Given the description of an element on the screen output the (x, y) to click on. 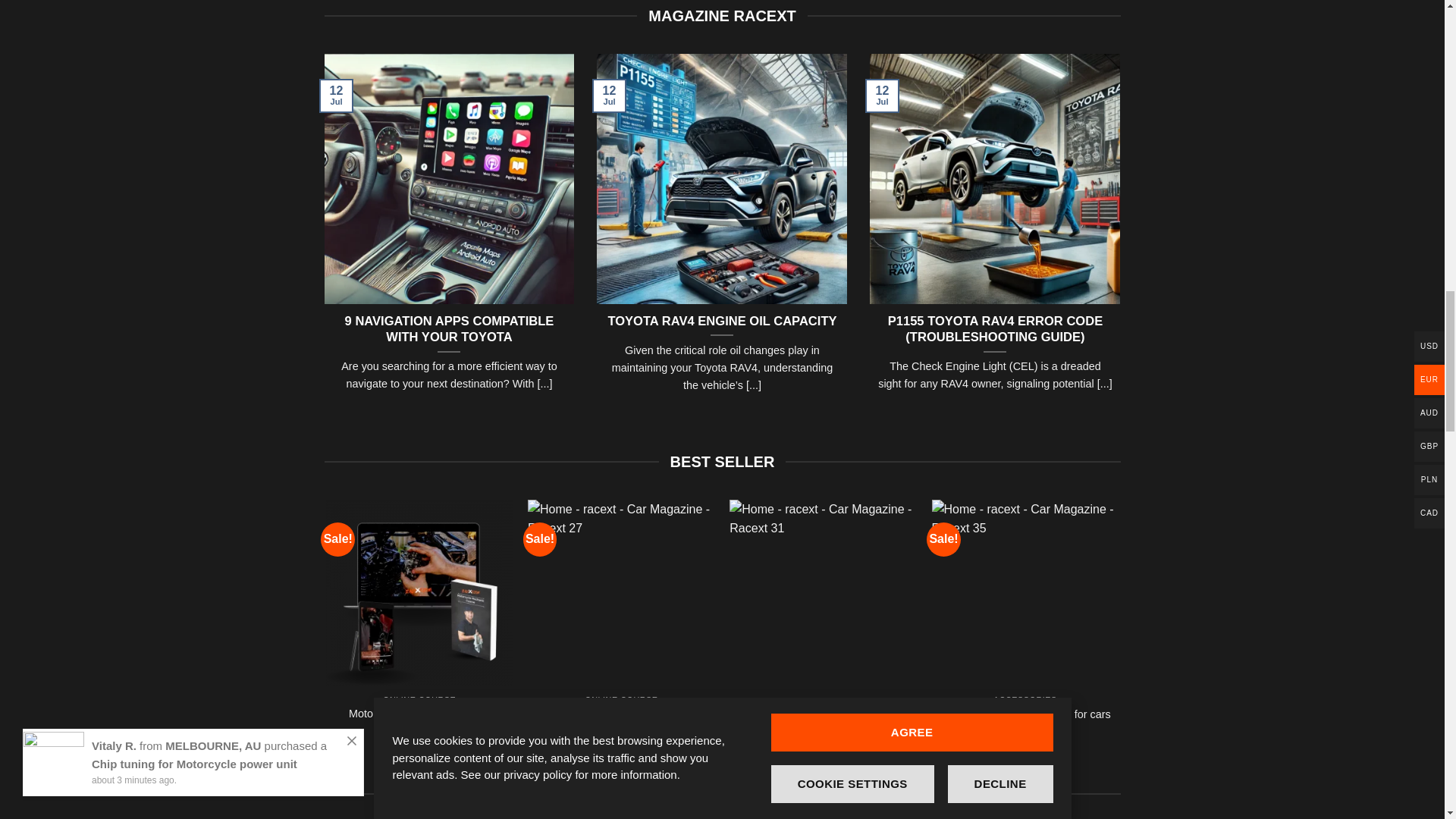
CHIP TUNING (809, 701)
Motorcycle mechanic training course (419, 720)
Chip tuning for Zontes ZT 125-G1 4T power unit (822, 723)
Motorcycle Electrical Technician Course (621, 720)
TOYOTA RAV4 ENGINE OIL CAPACITY 4 - Racext (721, 178)
Universal additional turbine for cars (1024, 714)
9 NAVIGATION APPS COMPATIBLE WITH YOUR TOYOTA 2 - Racext (449, 178)
